Given the description of an element on the screen output the (x, y) to click on. 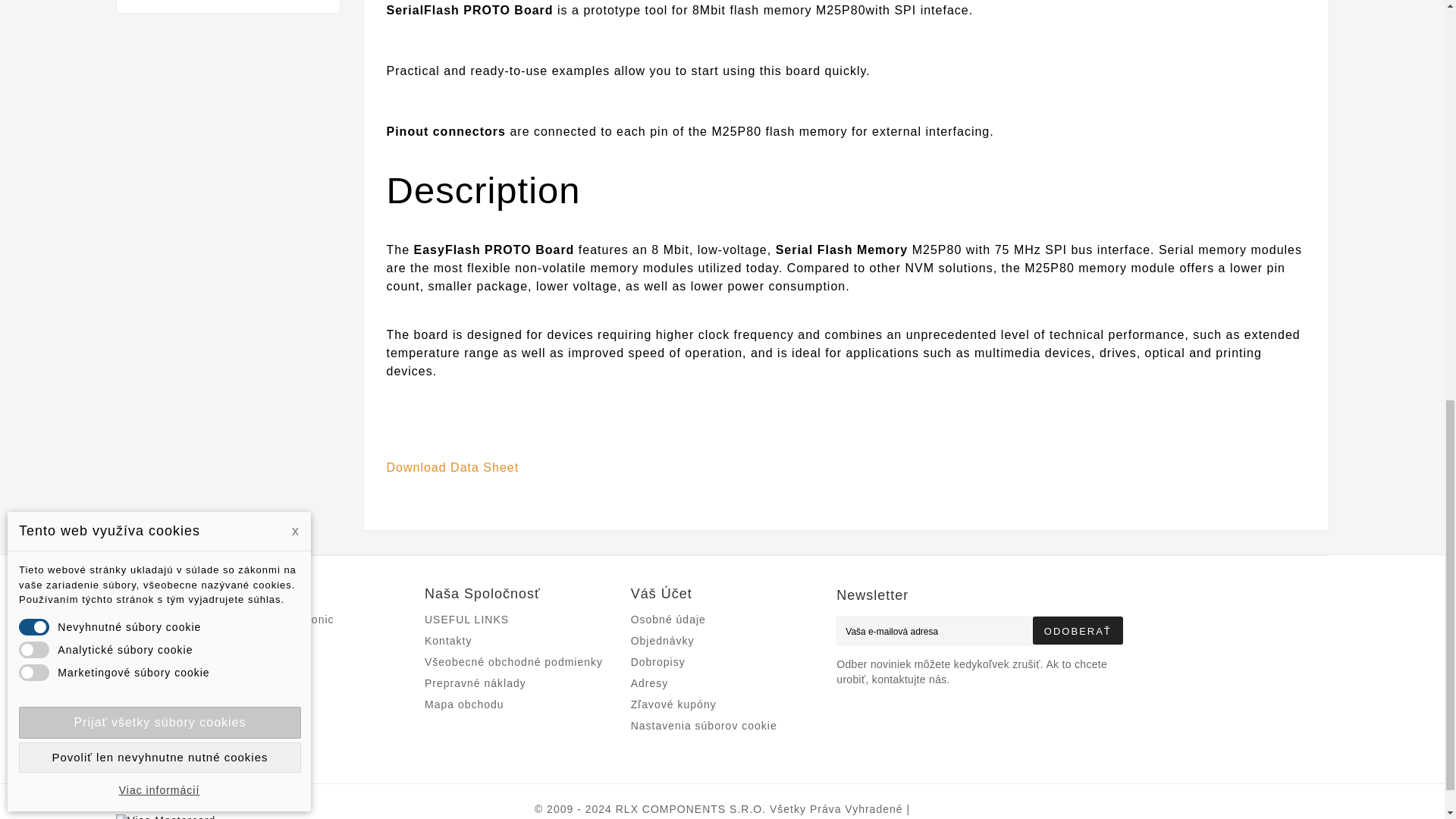
Kontakty (448, 640)
Otvorene Pondelok-Piatok 8:30 - 14:30 (464, 704)
USEFUL LINKS (466, 619)
